Given the description of an element on the screen output the (x, y) to click on. 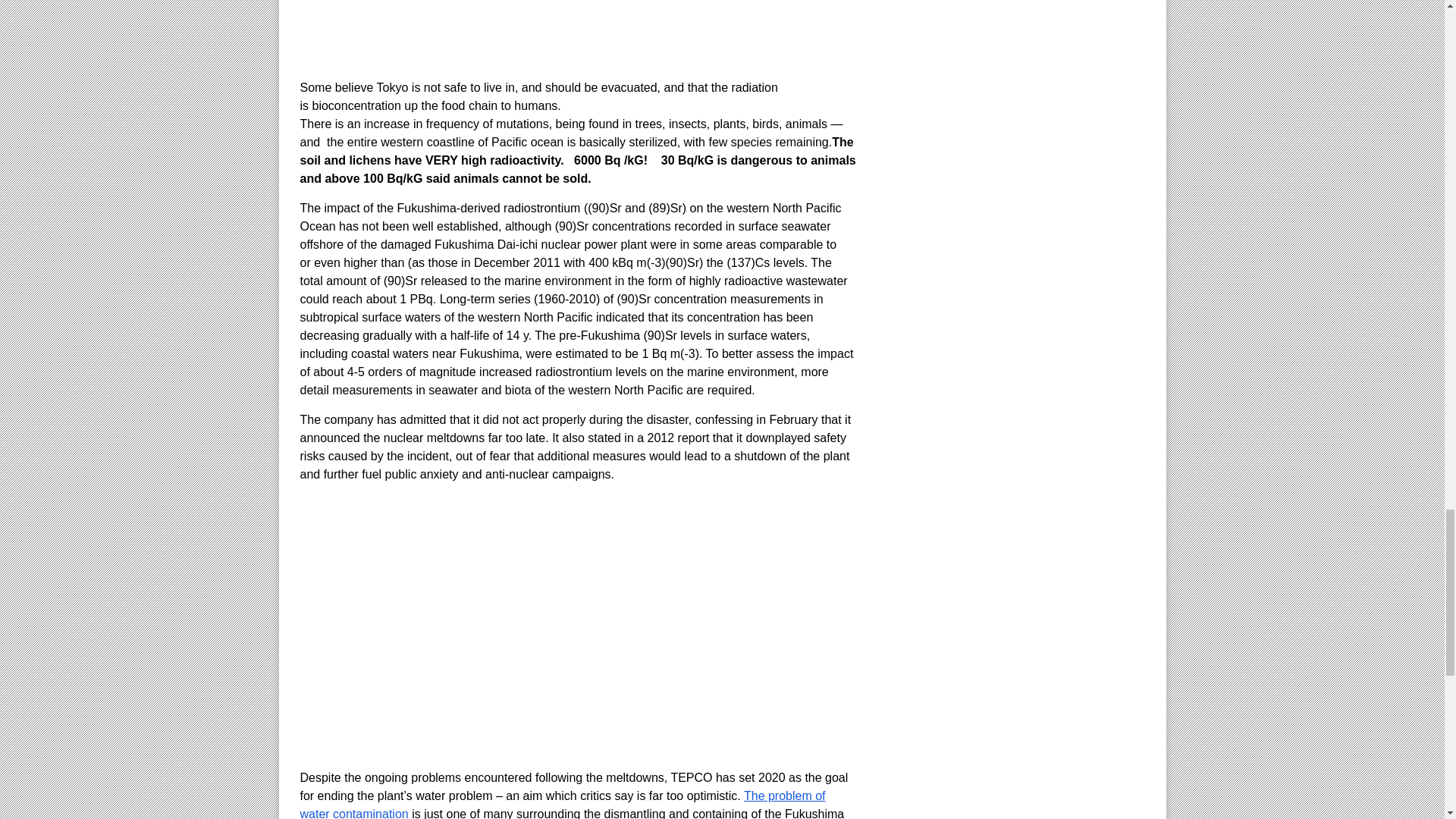
The problem of water contamination (562, 804)
